Given the description of an element on the screen output the (x, y) to click on. 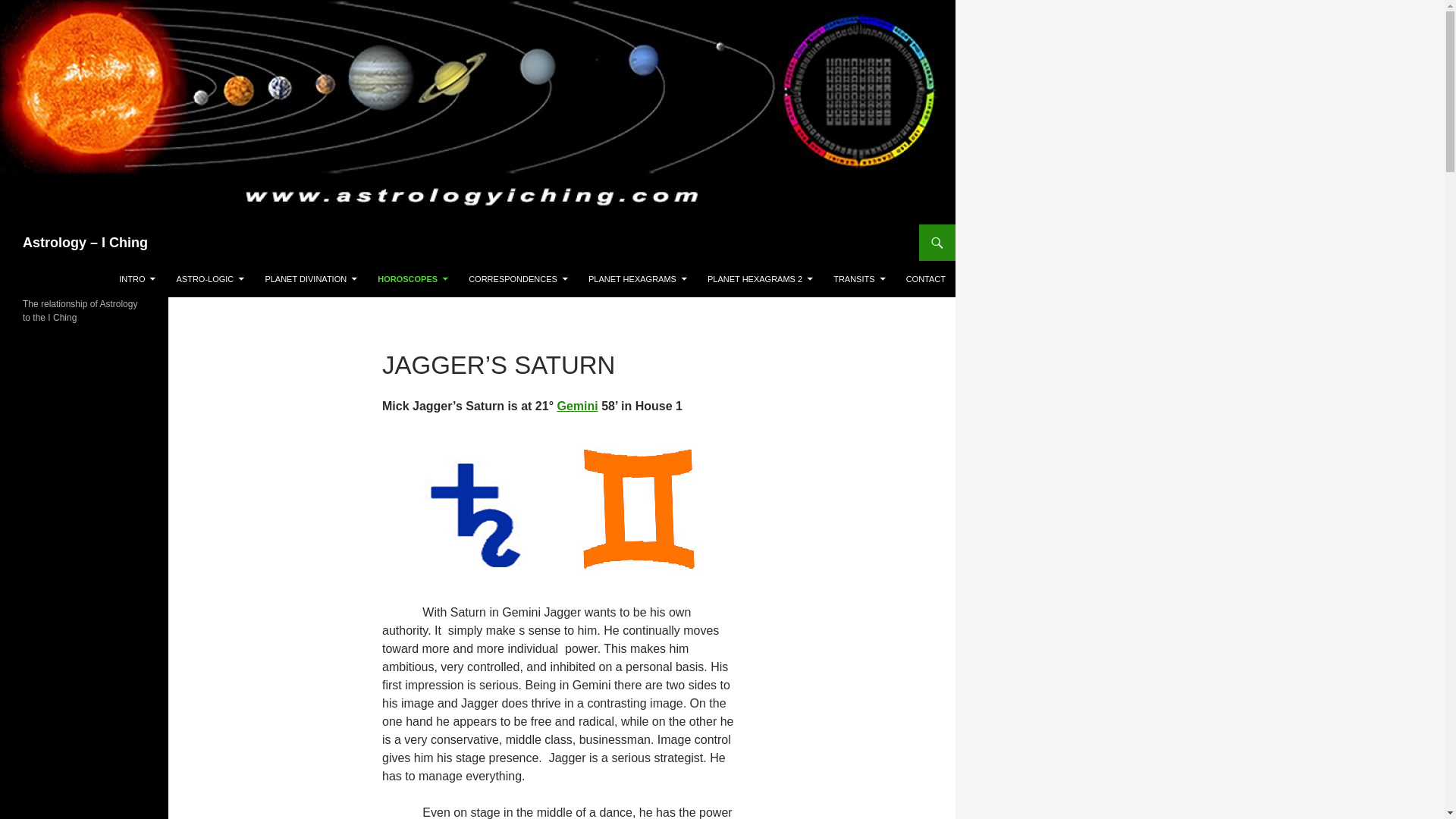
INTRO (137, 279)
ASTRO-LOGIC (210, 279)
